Given the description of an element on the screen output the (x, y) to click on. 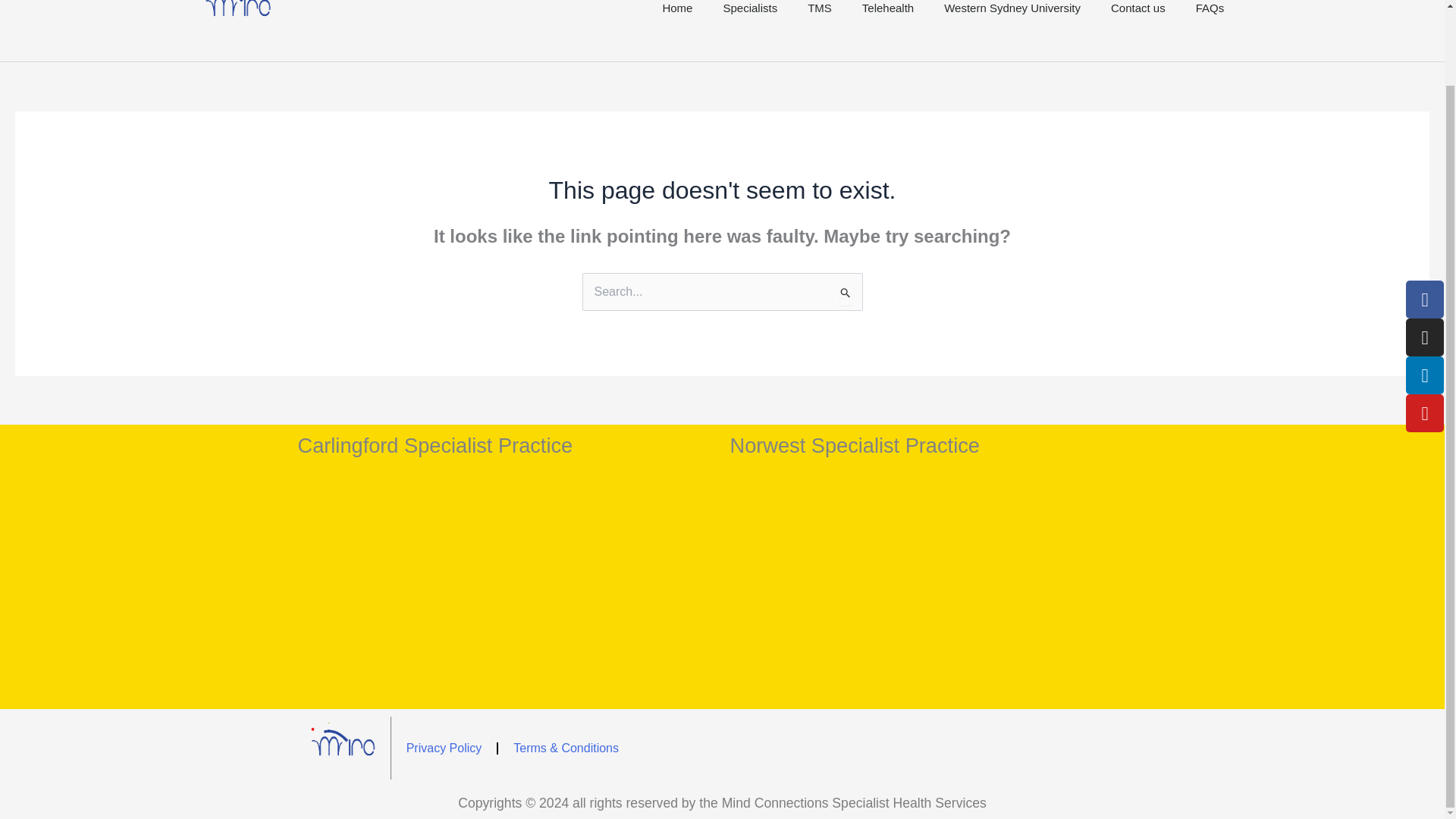
Linkedin (1425, 374)
Home (676, 30)
752B Pennant Hills Road, Carlingford, Sydney NSW 2118 (505, 587)
Telehealth (887, 30)
Specialists (749, 30)
Western Sydney University (1012, 30)
Privacy Policy (444, 748)
FAQs (1210, 30)
Facebook (1425, 299)
Youtube (1425, 412)
Contact us (1138, 30)
Instagram (1425, 337)
